Given the description of an element on the screen output the (x, y) to click on. 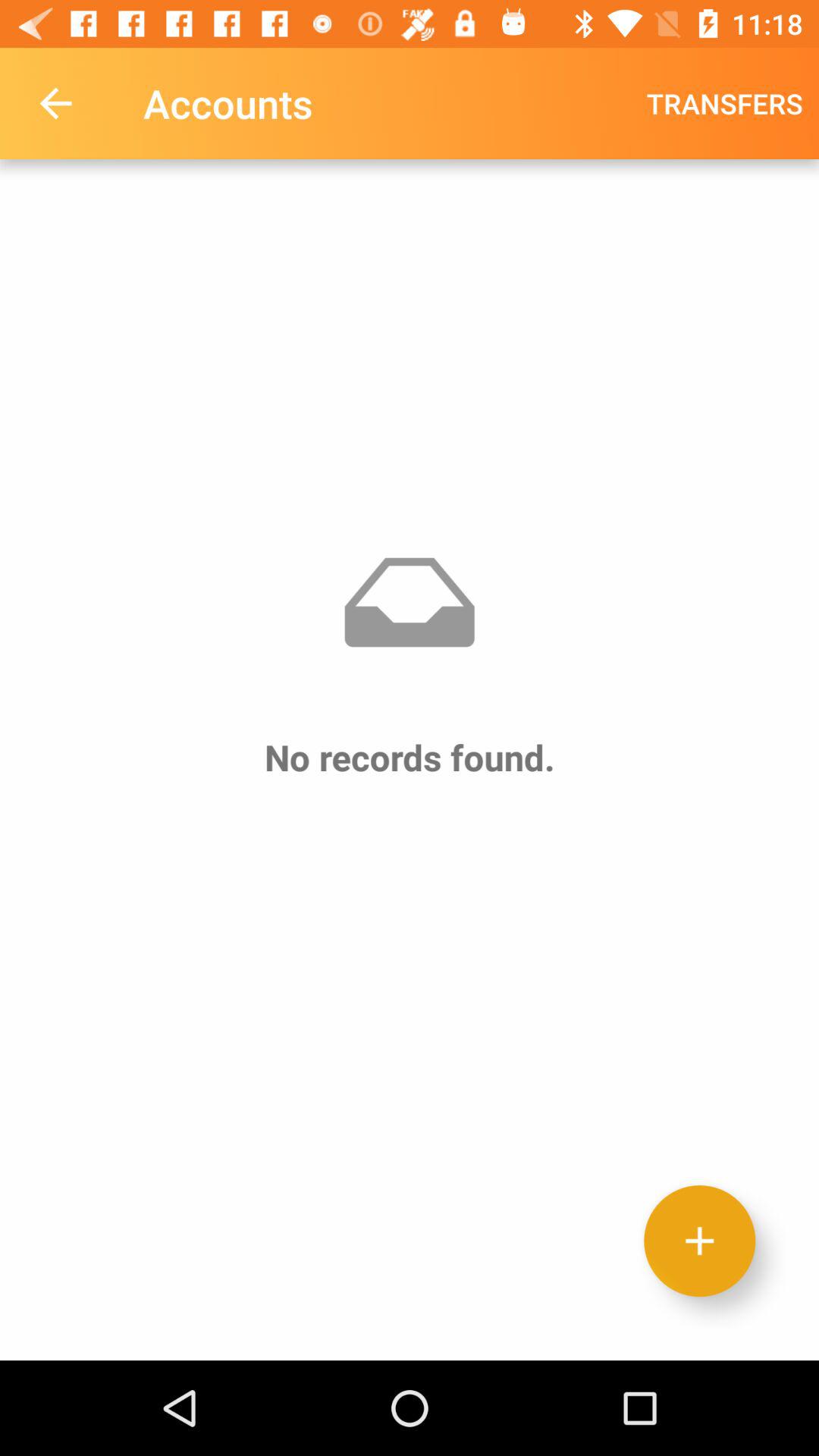
click item next to accounts (724, 103)
